Given the description of an element on the screen output the (x, y) to click on. 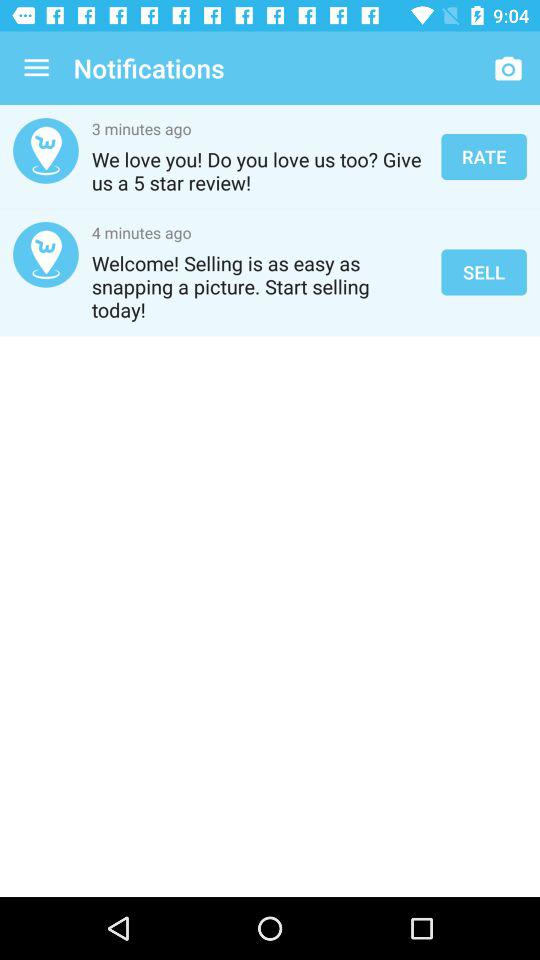
open icon next to the sell icon (259, 286)
